Given the description of an element on the screen output the (x, y) to click on. 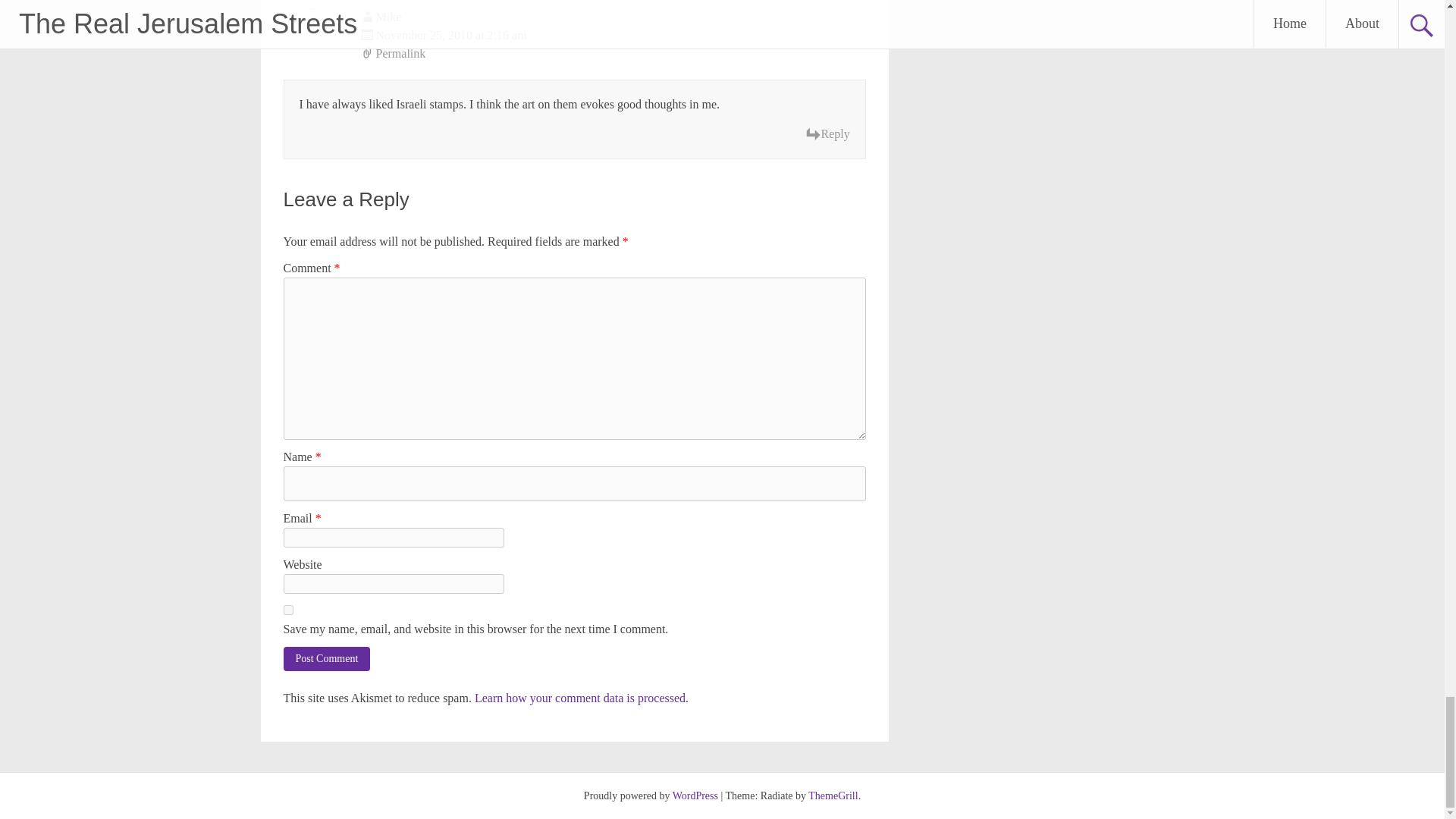
Reply (827, 134)
Learn how your comment data is processed (579, 697)
Mike (388, 16)
Post Comment (327, 658)
Permalink (612, 54)
Post Comment (327, 658)
yes (288, 610)
